Given the description of an element on the screen output the (x, y) to click on. 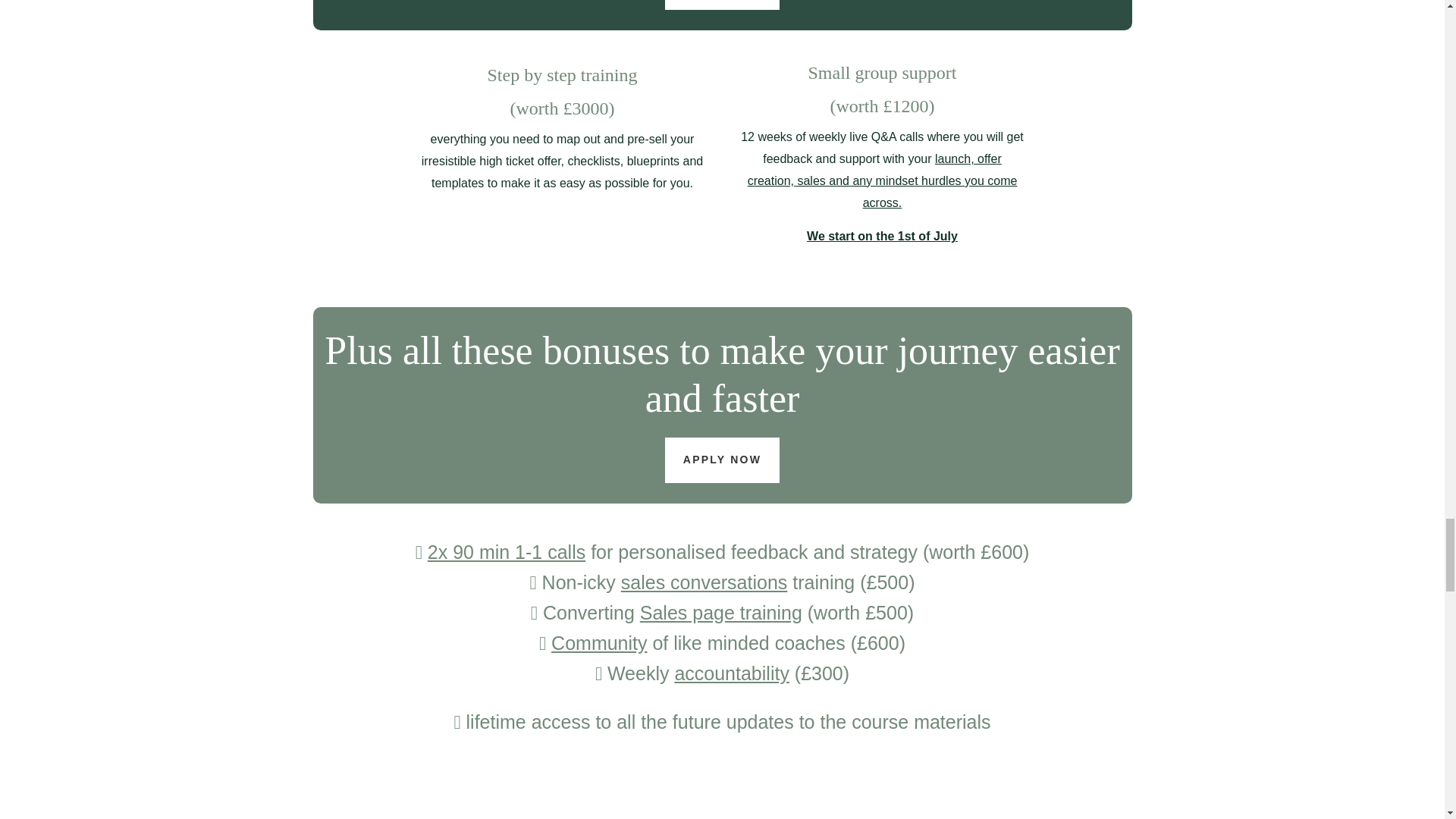
APPLY NOW (721, 4)
APPLY NOW (721, 460)
